Given the description of an element on the screen output the (x, y) to click on. 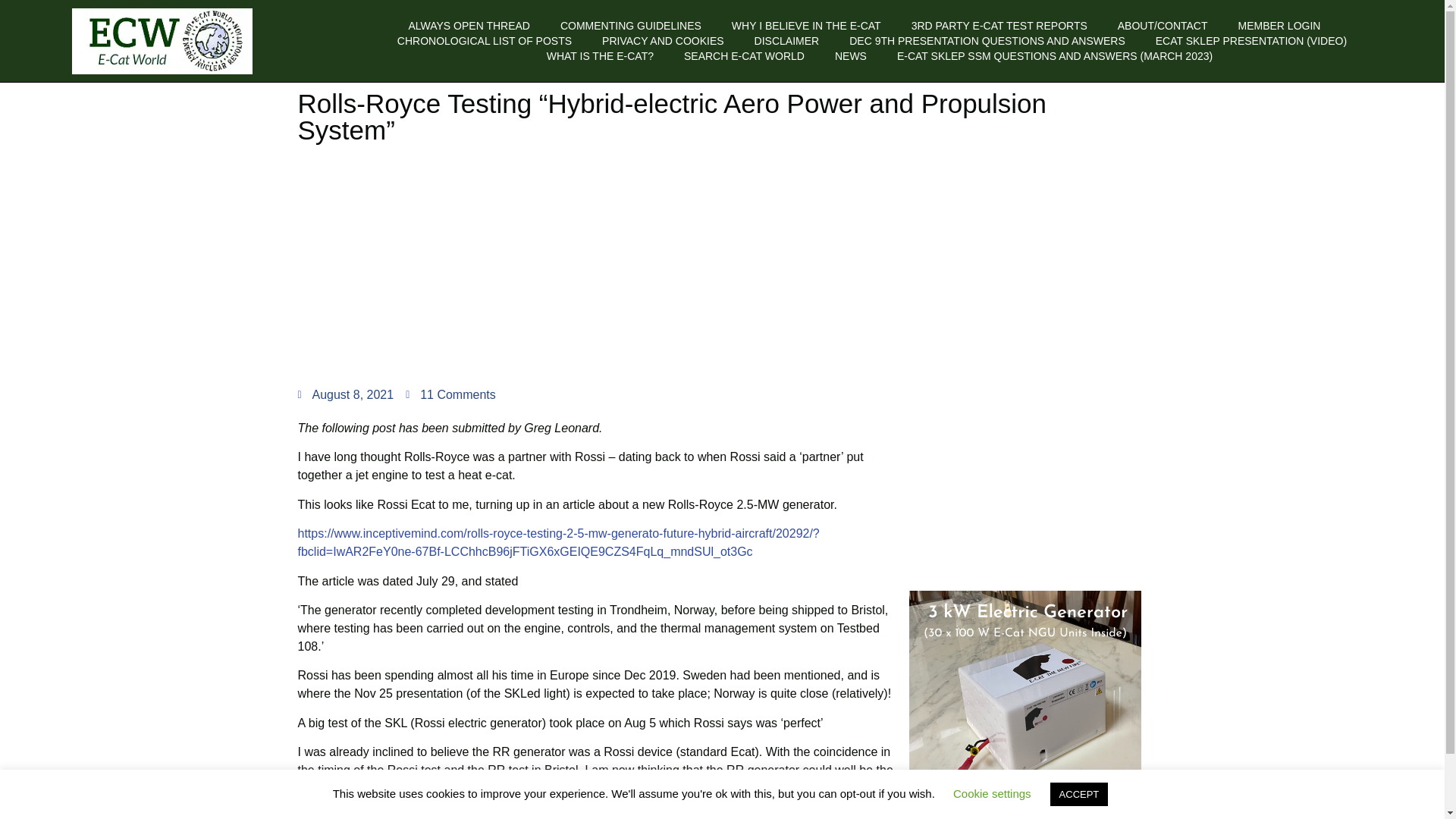
Cookie settings (991, 793)
DISCLAIMER (786, 40)
MEMBER LOGIN (1279, 25)
WHAT IS THE E-CAT? (600, 55)
ACCEPT (1078, 793)
COMMENTING GUIDELINES (630, 25)
CHRONOLOGICAL LIST OF POSTS (484, 40)
3RD PARTY E-CAT TEST REPORTS (999, 25)
DEC 9TH PRESENTATION QUESTIONS AND ANSWERS (986, 40)
SEARCH E-CAT WORLD (744, 55)
NEWS (850, 55)
Advertisement (1024, 480)
August 8, 2021 (345, 394)
11 Comments (451, 394)
ALWAYS OPEN THREAD (468, 25)
